Given the description of an element on the screen output the (x, y) to click on. 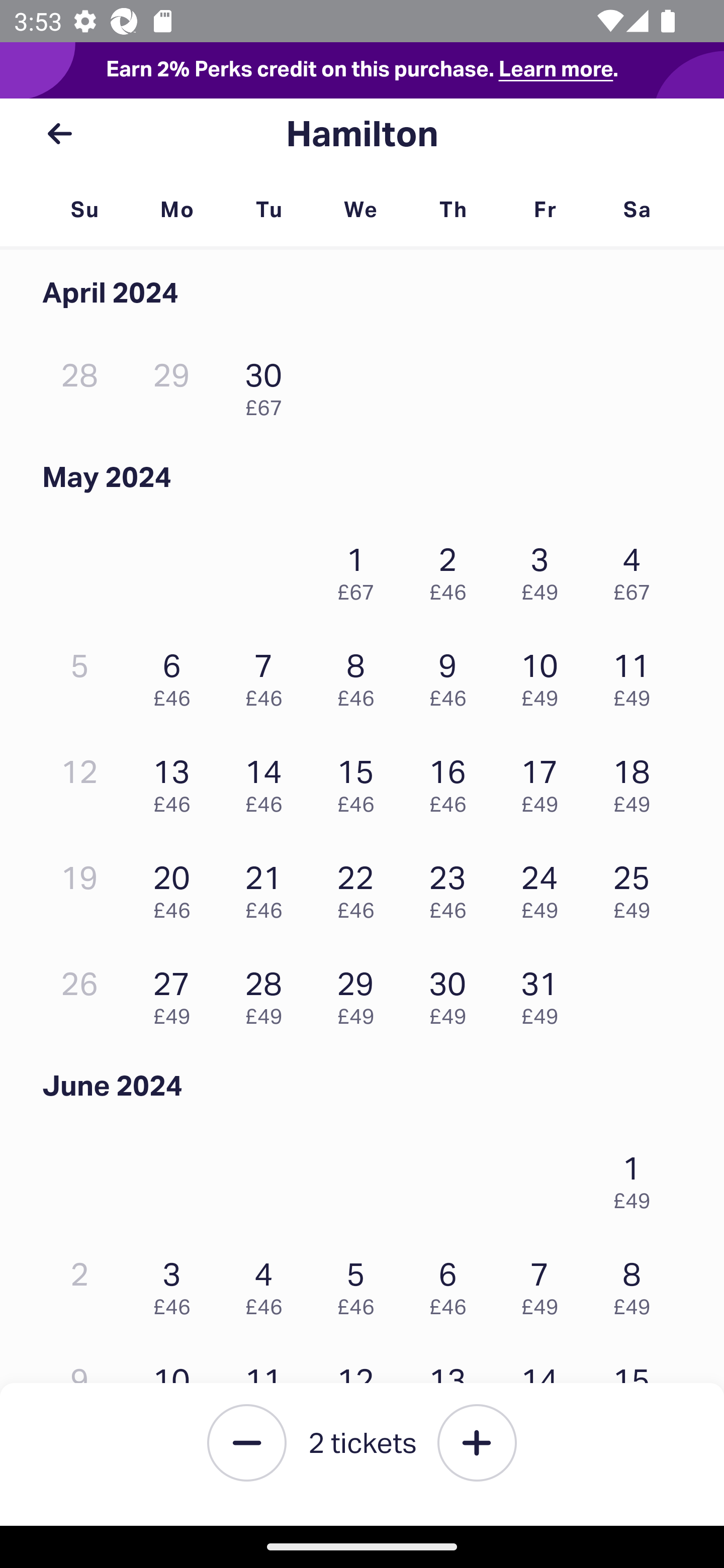
Earn 2% Perks credit on this purchase. Learn more. (362, 70)
back button (59, 133)
30 £67 (268, 384)
1 £67 (360, 569)
2 £46 (452, 569)
3 £49 (544, 569)
4 £67 (636, 569)
6 £46 (176, 674)
7 £46 (268, 674)
8 £46 (360, 674)
9 £46 (452, 674)
10 £49 (544, 674)
11 £49 (636, 674)
13 £46 (176, 781)
14 £46 (268, 781)
15 £46 (360, 781)
16 £46 (452, 781)
17 £49 (544, 781)
18 £49 (636, 781)
20 £46 (176, 886)
21 £46 (268, 886)
22 £46 (360, 886)
23 £46 (452, 886)
24 £49 (544, 886)
25 £49 (636, 886)
27 £49 (176, 992)
28 £49 (268, 992)
29 £49 (360, 992)
30 £49 (452, 992)
31 £49 (544, 992)
1 £49 (636, 1177)
3 £46 (176, 1283)
4 £46 (268, 1283)
5 £46 (360, 1283)
6 £46 (452, 1283)
7 £49 (544, 1283)
8 £49 (636, 1283)
